Given the description of an element on the screen output the (x, y) to click on. 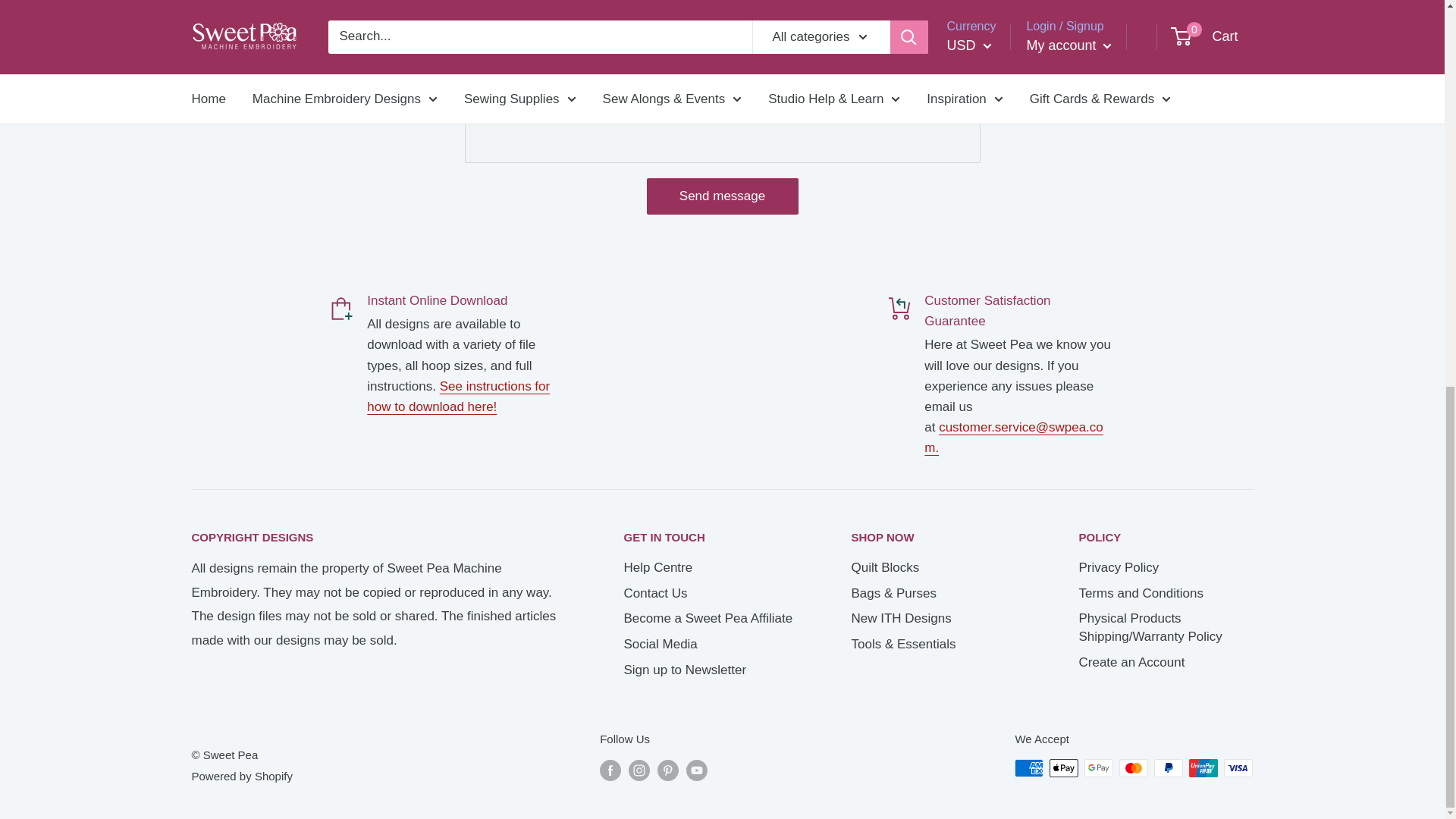
How to Download Designs (458, 396)
